Given the description of an element on the screen output the (x, y) to click on. 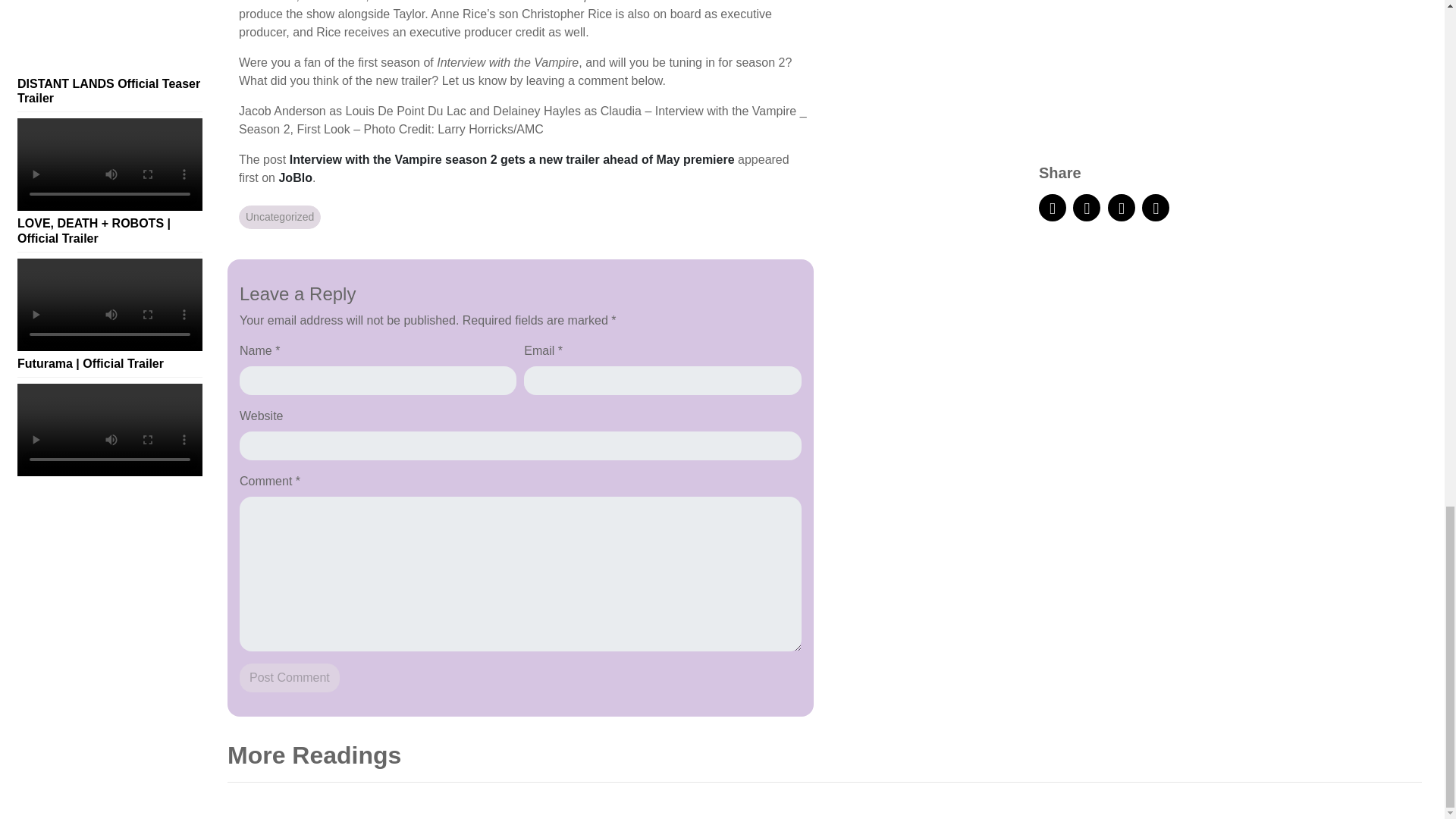
Uncategorized (279, 217)
Post Comment (289, 677)
JoBlo (294, 177)
Post Comment (289, 677)
